Given the description of an element on the screen output the (x, y) to click on. 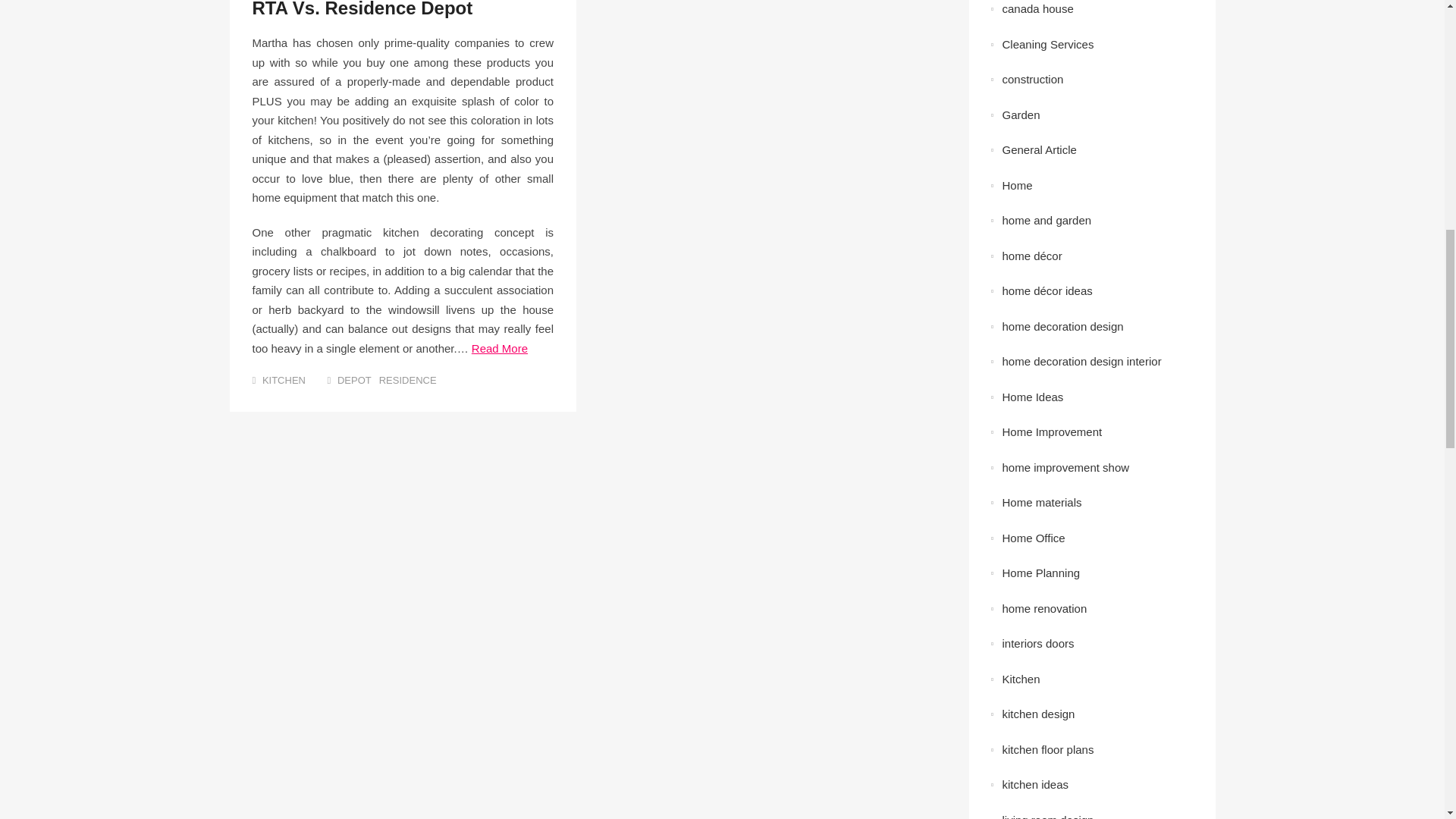
RTA Vs. Residence Depot (361, 9)
